Given the description of an element on the screen output the (x, y) to click on. 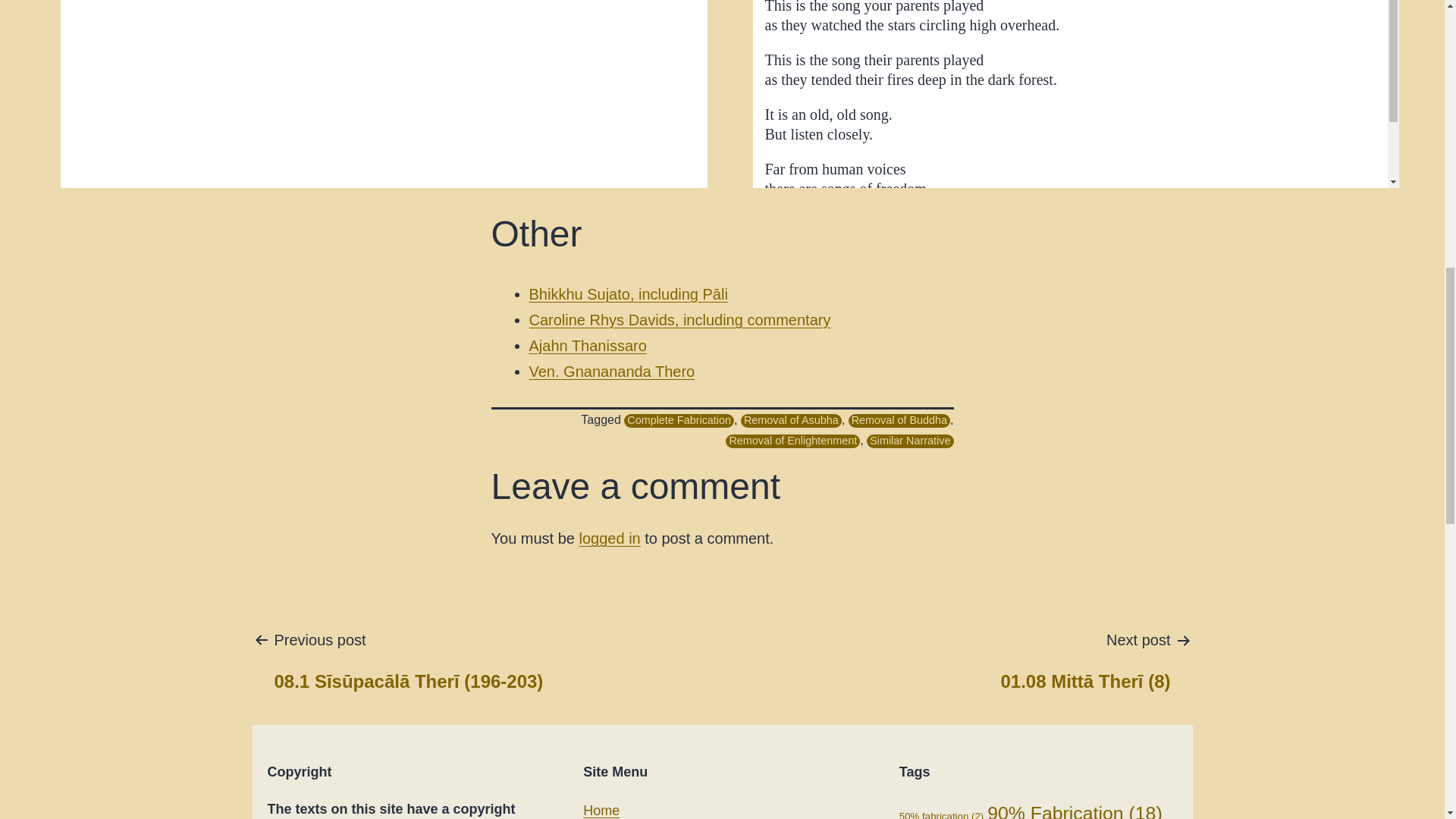
Ajahn Thanissaro (587, 345)
Ven. Gnanananda Thero (612, 371)
Similar Narrative (909, 440)
Removal of Asubha (791, 420)
Caroline Rhys Davids, including commentary (680, 320)
Removal of Buddha (899, 420)
Removal of Enlightenment (792, 440)
logged in (609, 538)
Complete Fabrication (678, 420)
Home (601, 810)
